Given the description of an element on the screen output the (x, y) to click on. 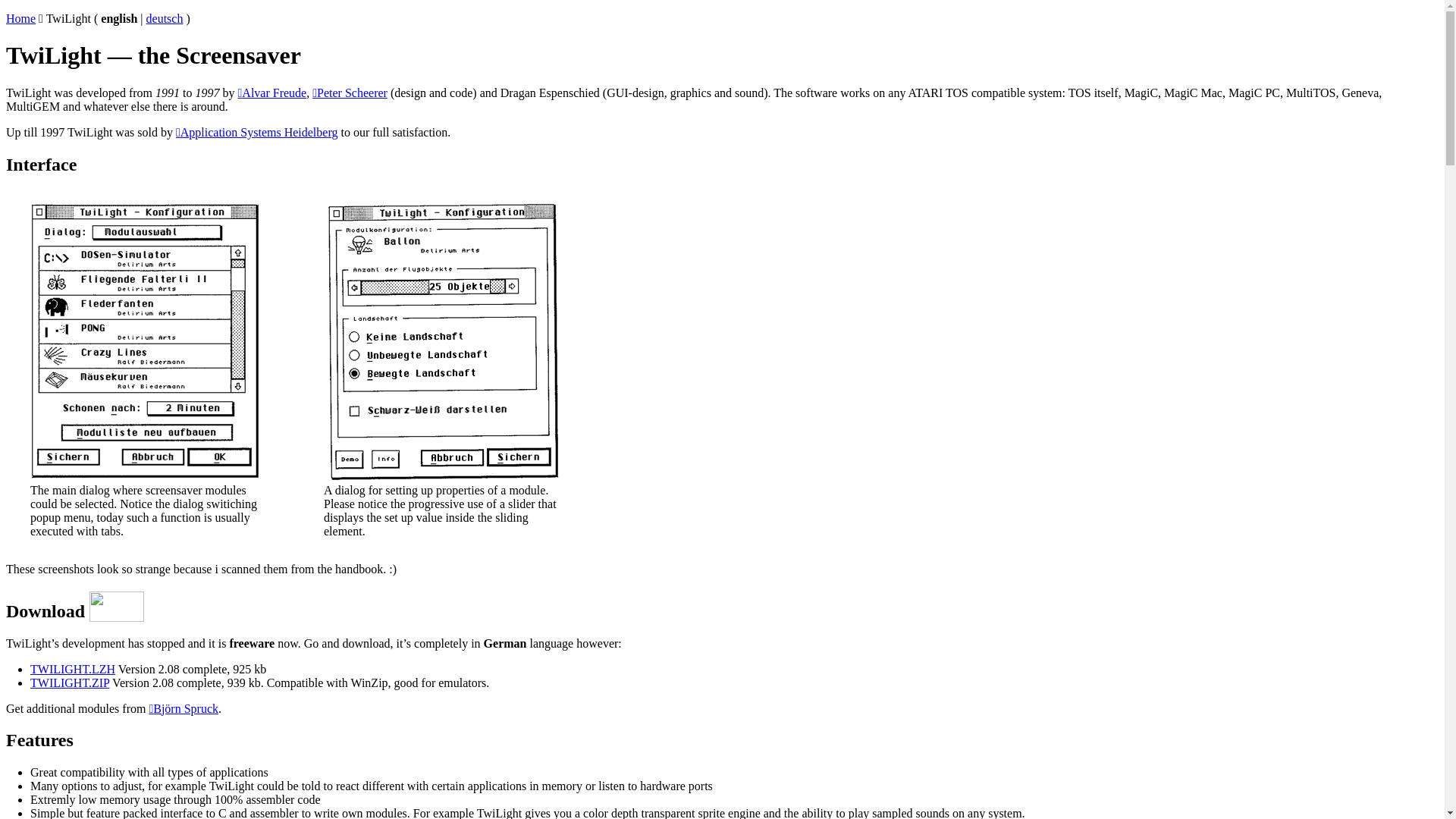
TWILIGHT.LZH Element type: text (72, 668)
deutsch Element type: text (164, 18)
Peter Scheerer Element type: text (349, 92)
TwiLight Element type: text (68, 18)
TWILIGHT.ZIP Element type: text (69, 682)
Home Element type: text (20, 18)
Alvar Freude Element type: text (272, 92)
Application Systems Heidelberg Element type: text (256, 131)
